Given the description of an element on the screen output the (x, y) to click on. 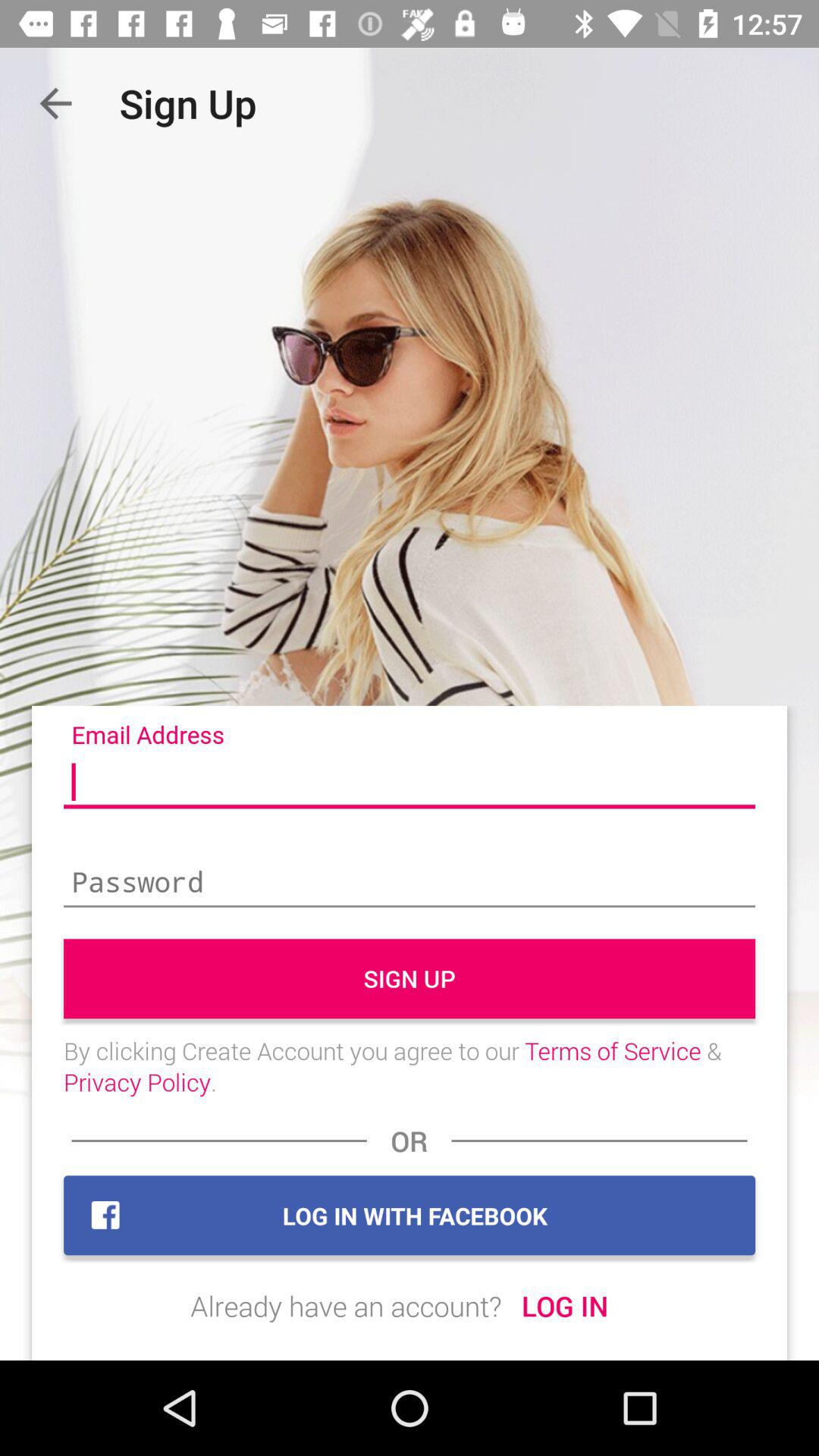
choose the already have an (345, 1305)
